Given the description of an element on the screen output the (x, y) to click on. 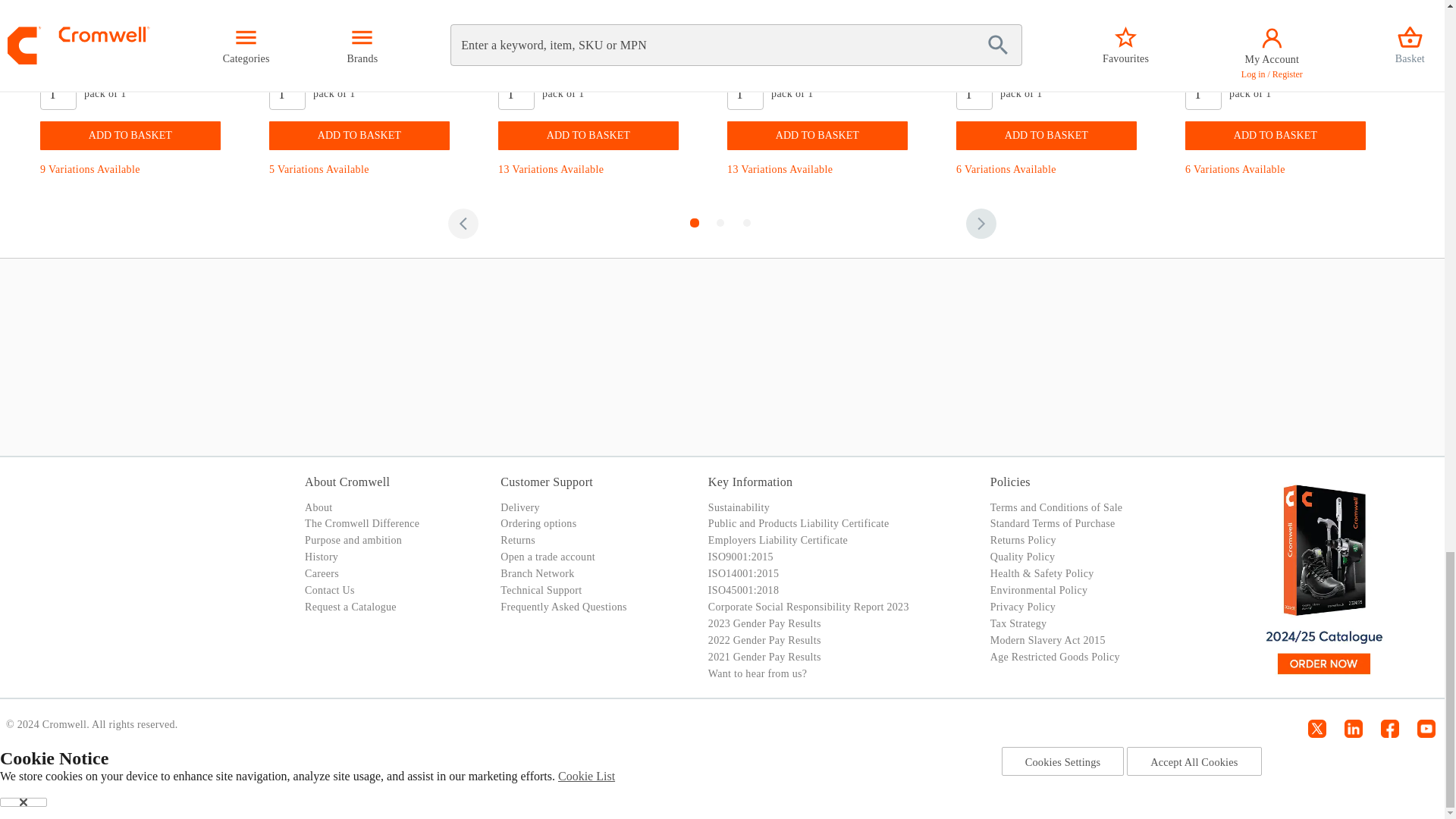
1 (515, 93)
1 (974, 93)
1 (1203, 93)
1 (58, 93)
1 (287, 93)
1 (744, 93)
